Given the description of an element on the screen output the (x, y) to click on. 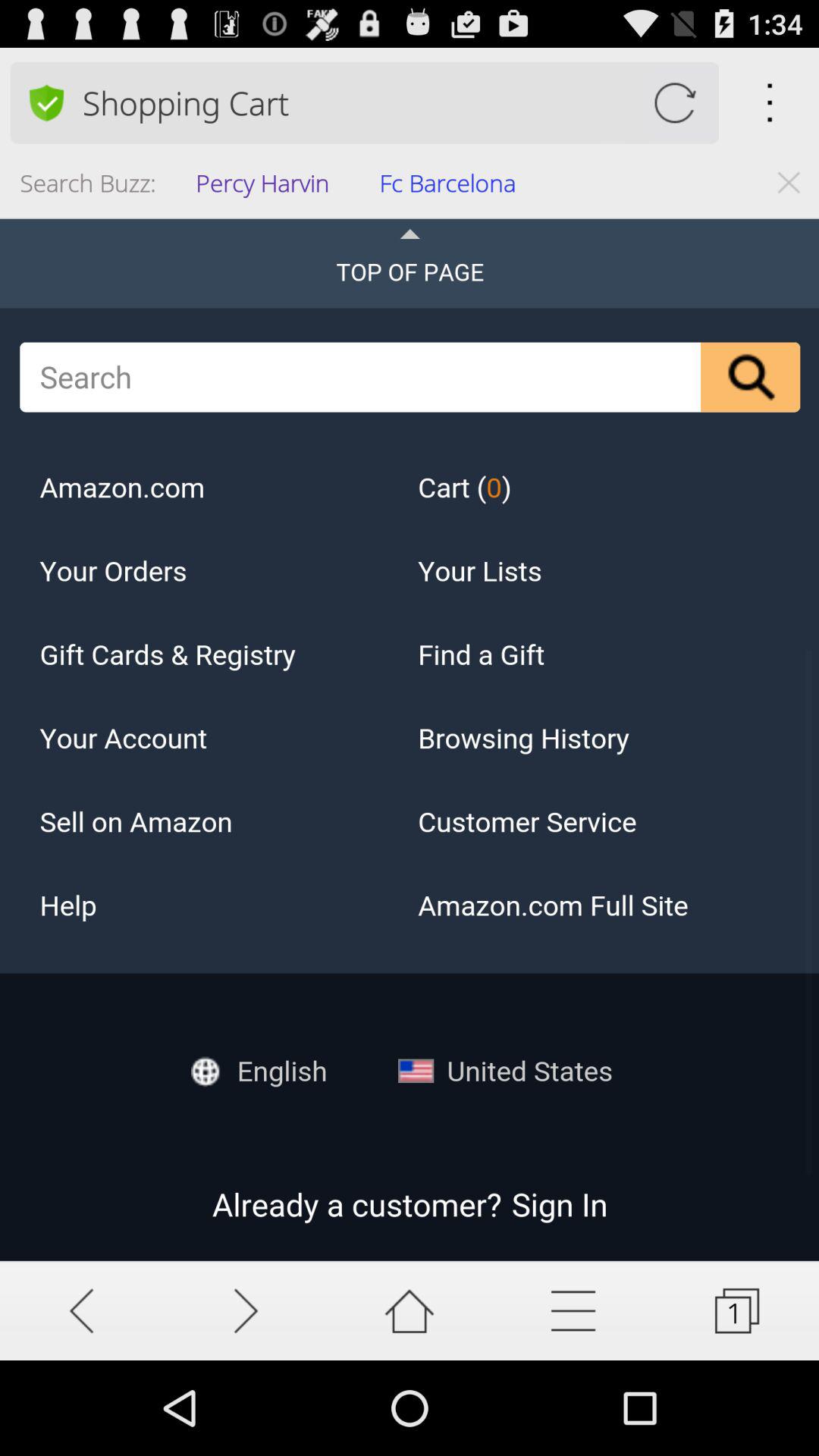
select the app to the right of the search buzz: (267, 187)
